Given the description of an element on the screen output the (x, y) to click on. 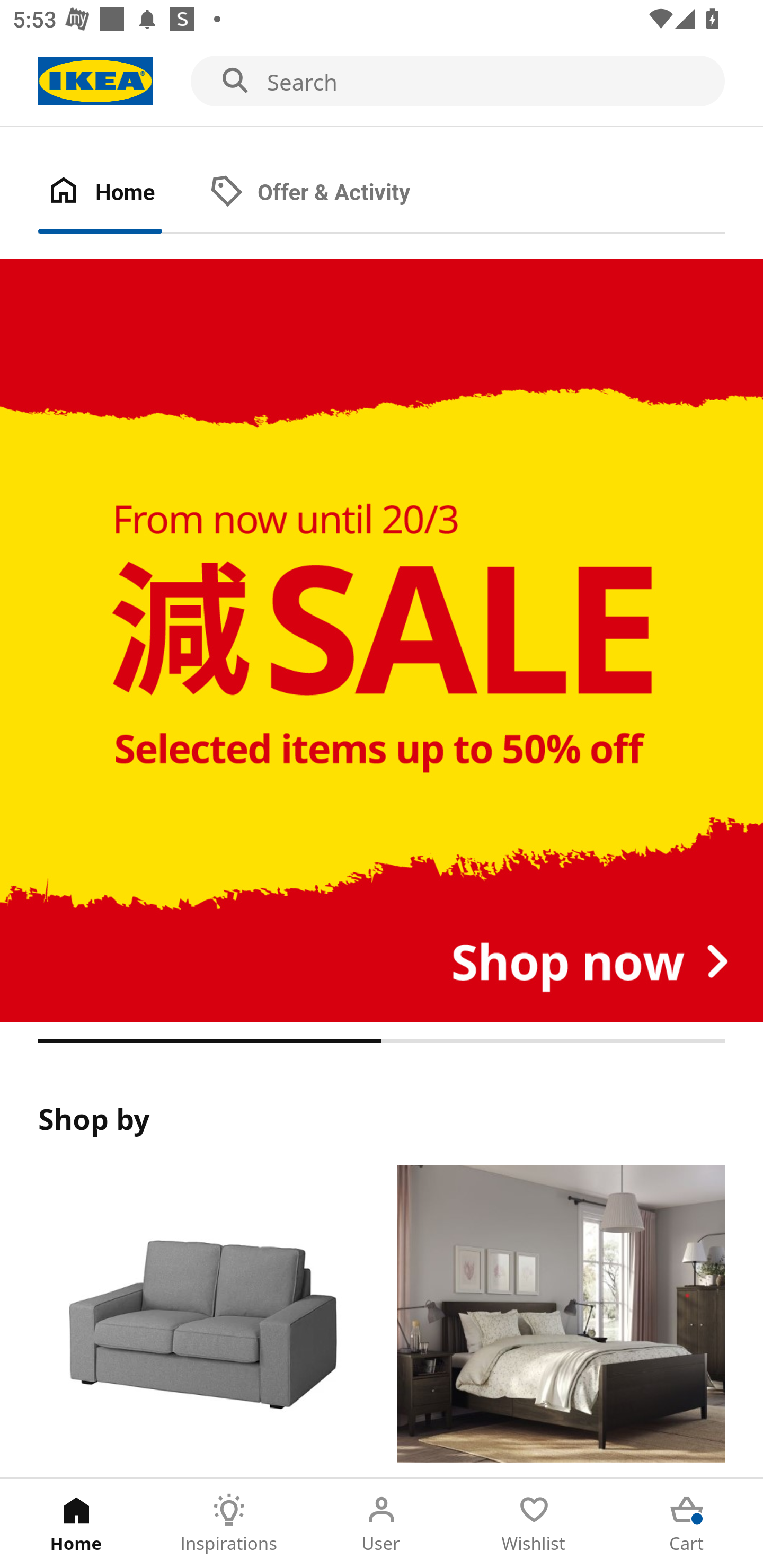
Search (381, 81)
Home
Tab 1 of 2 (118, 192)
Offer & Activity
Tab 2 of 2 (327, 192)
Products (201, 1321)
Rooms (560, 1321)
Home
Tab 1 of 5 (76, 1522)
Inspirations
Tab 2 of 5 (228, 1522)
User
Tab 3 of 5 (381, 1522)
Wishlist
Tab 4 of 5 (533, 1522)
Cart
Tab 5 of 5 (686, 1522)
